Given the description of an element on the screen output the (x, y) to click on. 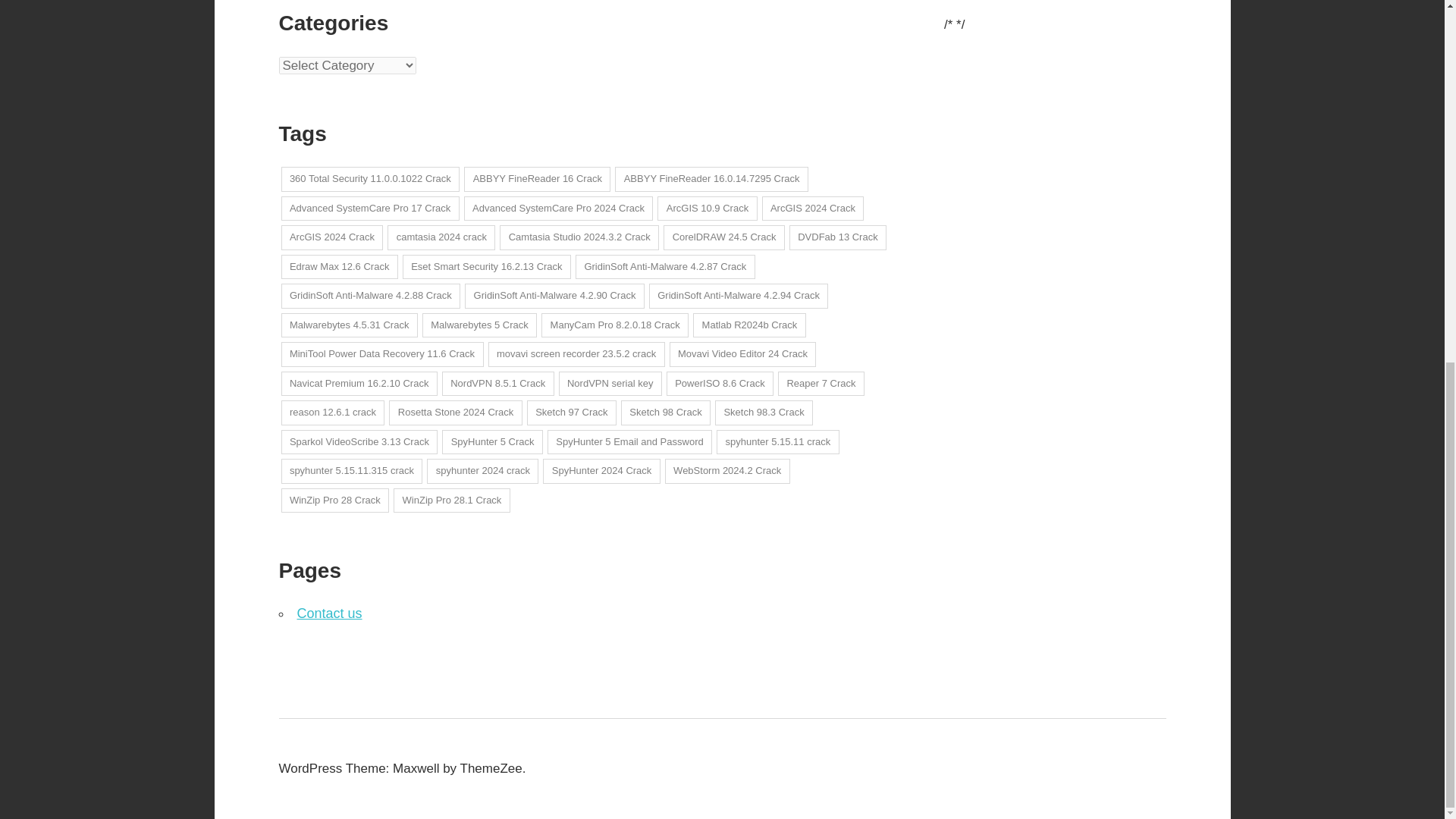
ABBYY FineReader 16.0.14.7295 Crack (711, 179)
MiniTool Power Data Recovery 11.6 Crack (382, 354)
camtasia 2024 crack (441, 237)
CorelDRAW 24.5 Crack (723, 237)
Malwarebytes 5 Crack (479, 325)
360 Total Security 11.0.0.1022 Crack (370, 179)
ArcGIS 2024 Crack (331, 237)
Navicat Premium 16.2.10 Crack (358, 383)
Advanced SystemCare Pro 17 Crack (369, 208)
Edraw Max 12.6 Crack (339, 267)
